Given the description of an element on the screen output the (x, y) to click on. 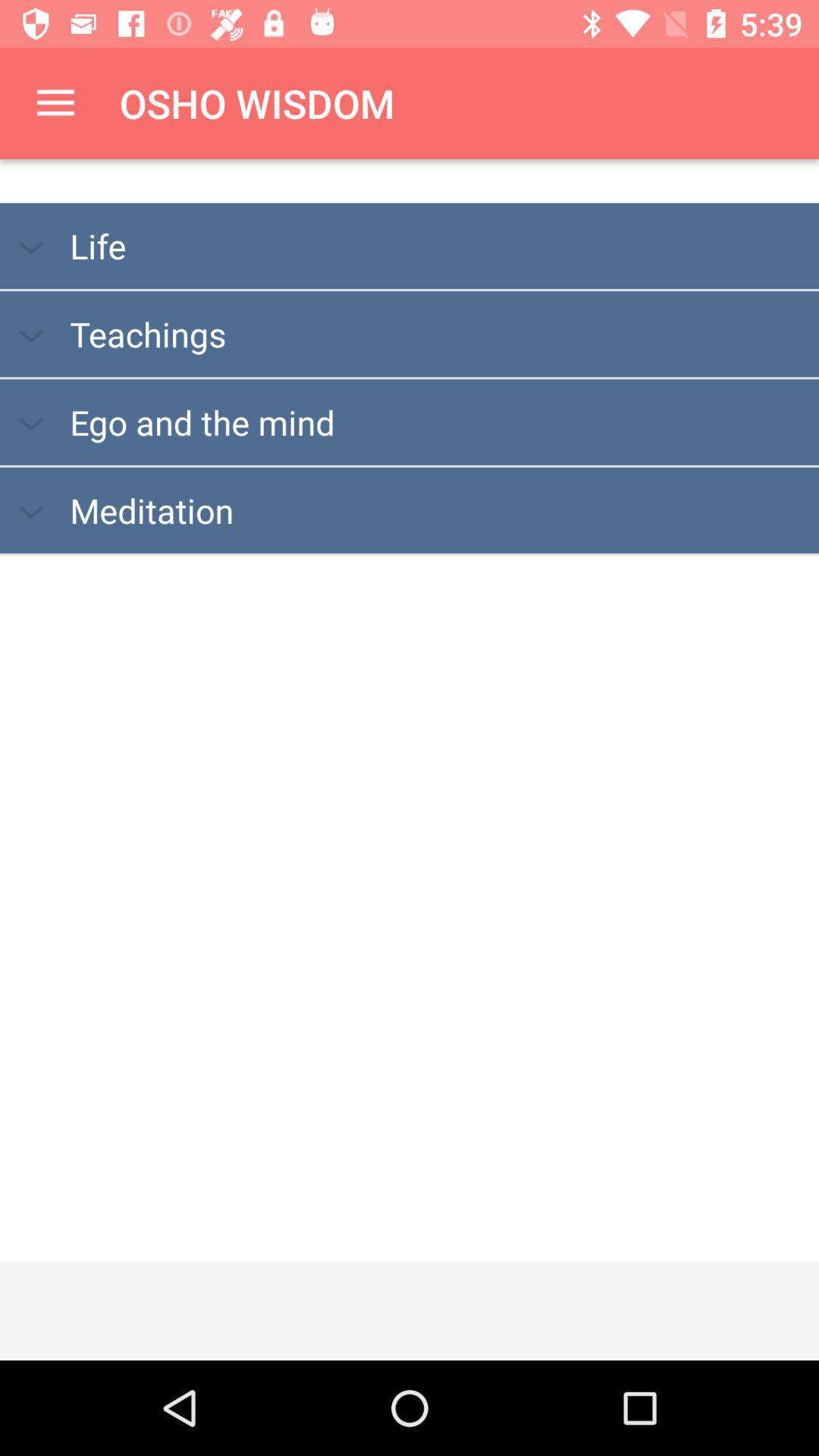
turn off item above life icon (55, 103)
